Given the description of an element on the screen output the (x, y) to click on. 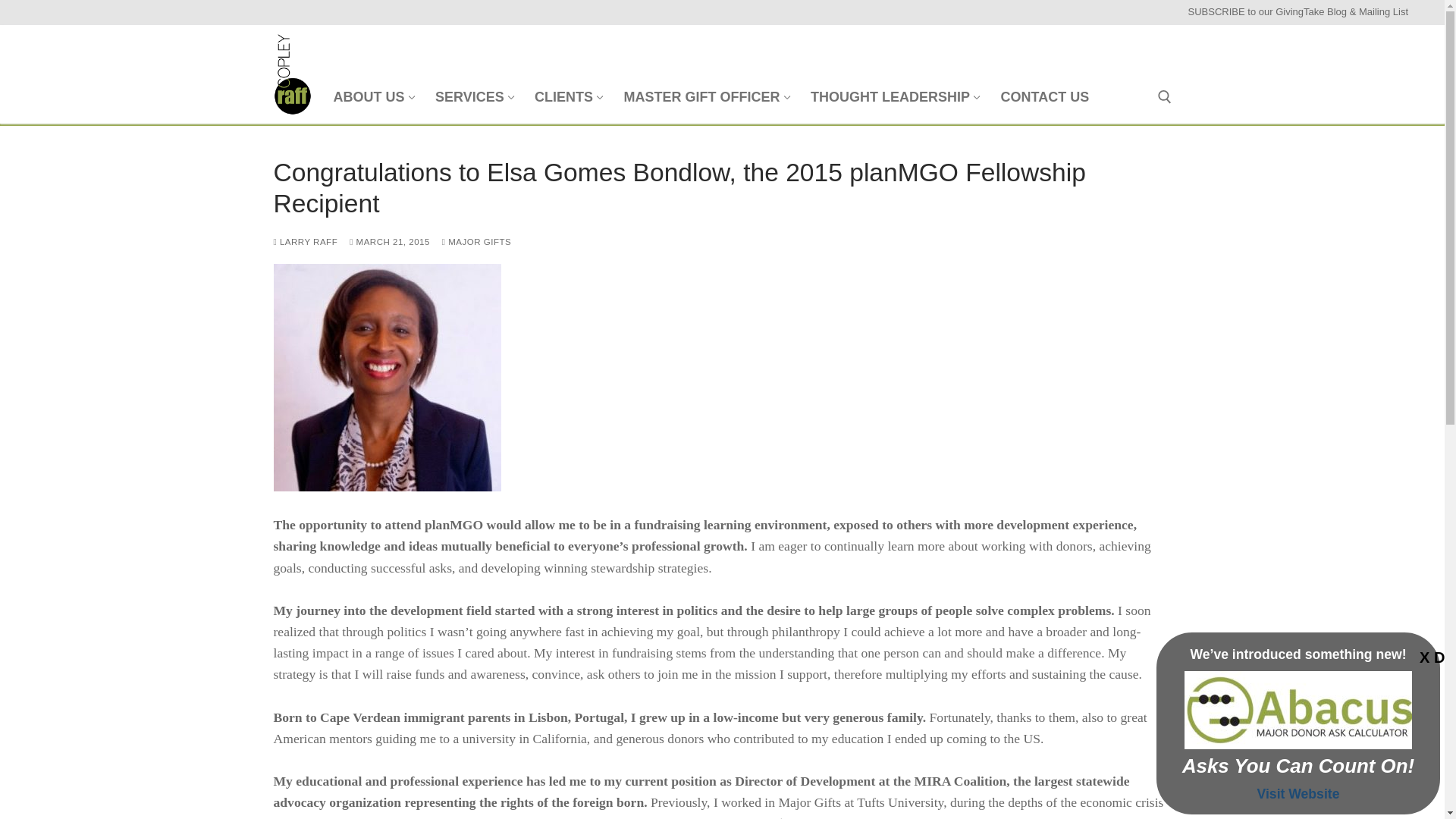
CONTACT US (473, 97)
